Given the description of an element on the screen output the (x, y) to click on. 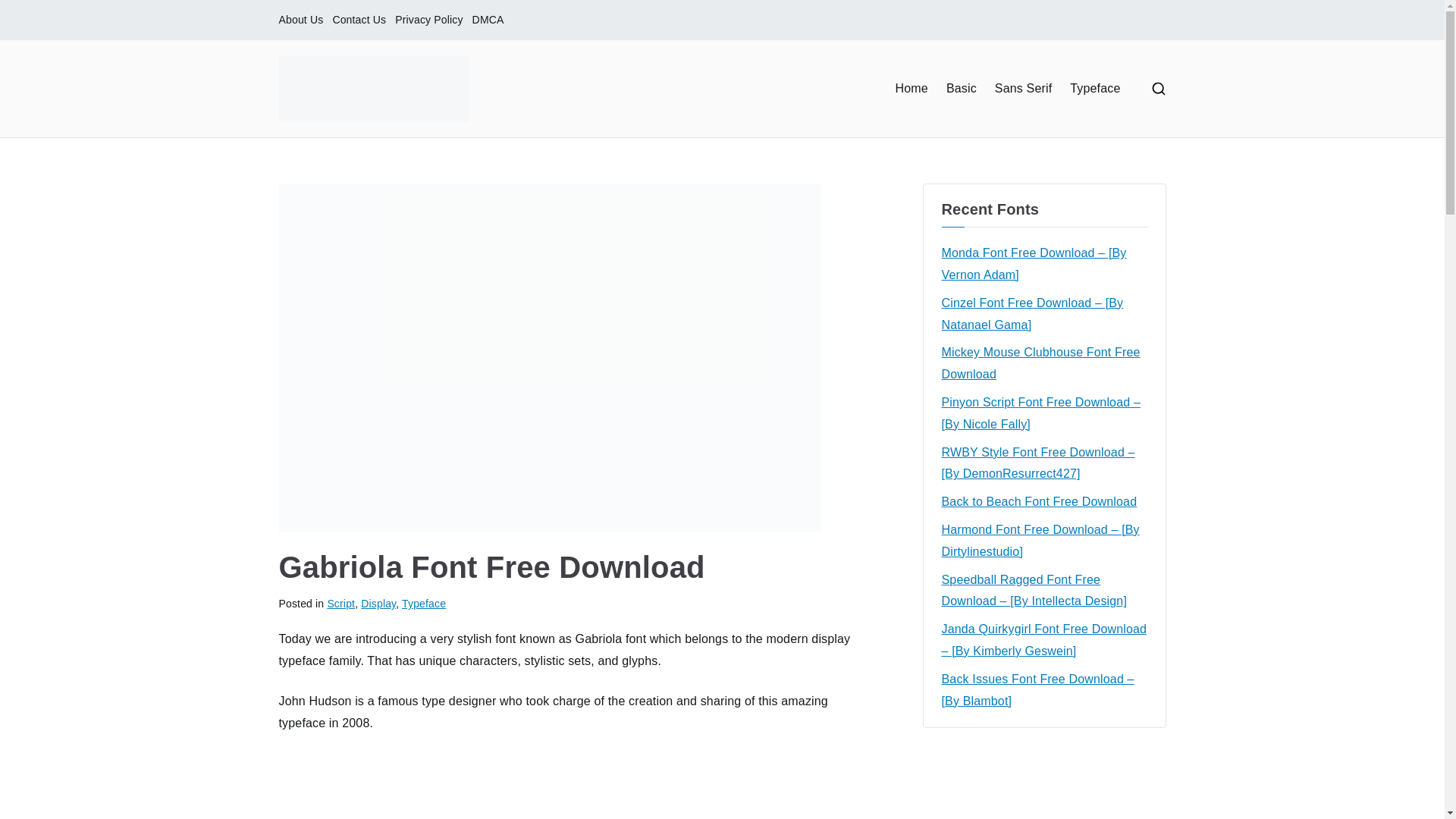
Privacy Policy (428, 19)
About Us (301, 19)
Mickey Mouse Clubhouse Font Free Download (1044, 363)
Sans Serif (1022, 88)
Script (340, 603)
Typeface (423, 603)
DMCA (487, 19)
Typeface (1094, 88)
Home (911, 88)
Fonty Fonts (571, 108)
Search (26, 12)
Display (378, 603)
Contact Us (358, 19)
Basic (961, 88)
